Given the description of an element on the screen output the (x, y) to click on. 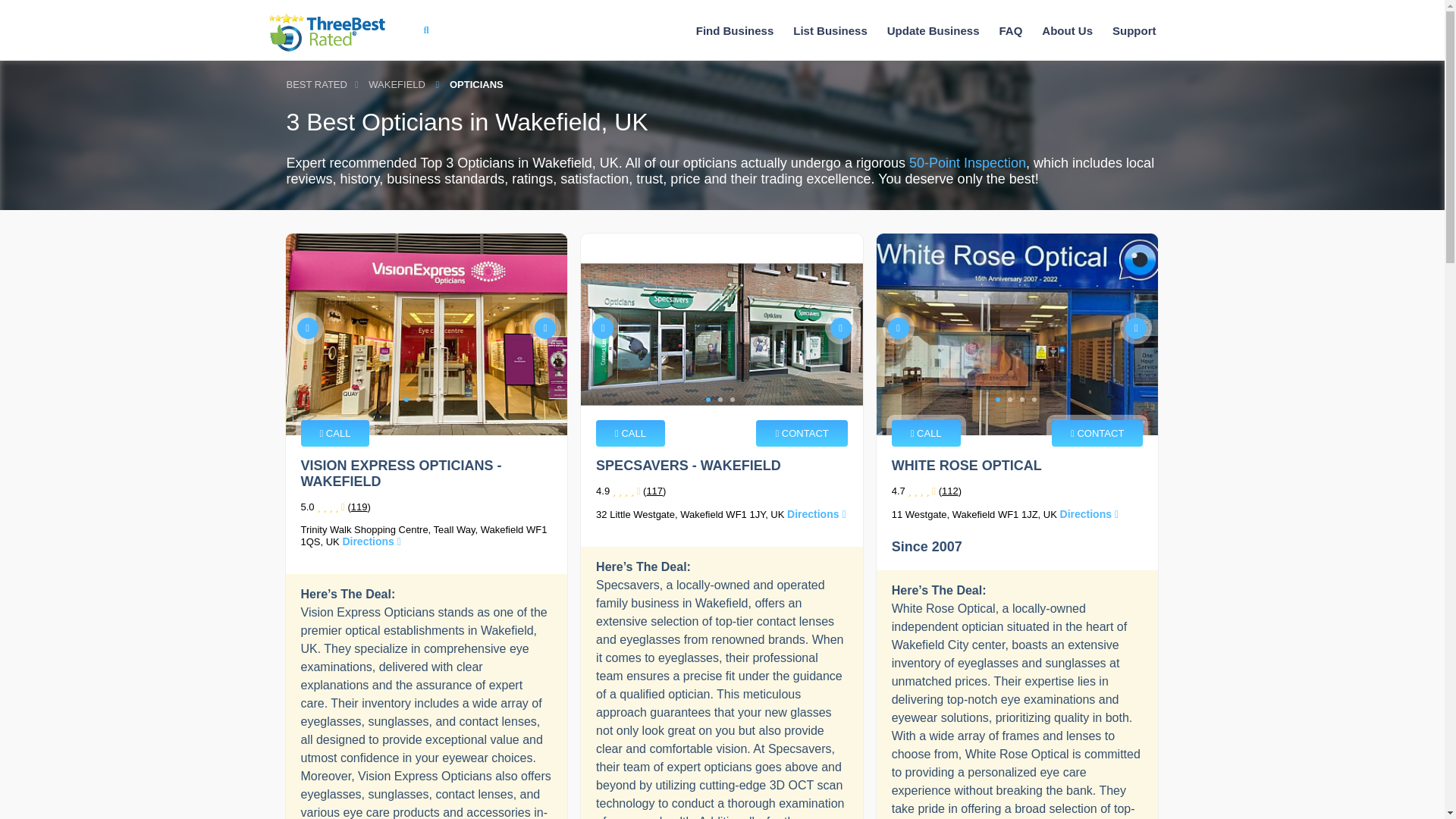
BEST RATED (317, 84)
Directions to Specsavers - Wakefield (816, 513)
CALL (334, 433)
Directions (371, 541)
Directions (816, 513)
White Rose Optical (1017, 333)
Update Business (933, 30)
Directions to Vision Express Opticians - Wakefield (371, 541)
